Given the description of an element on the screen output the (x, y) to click on. 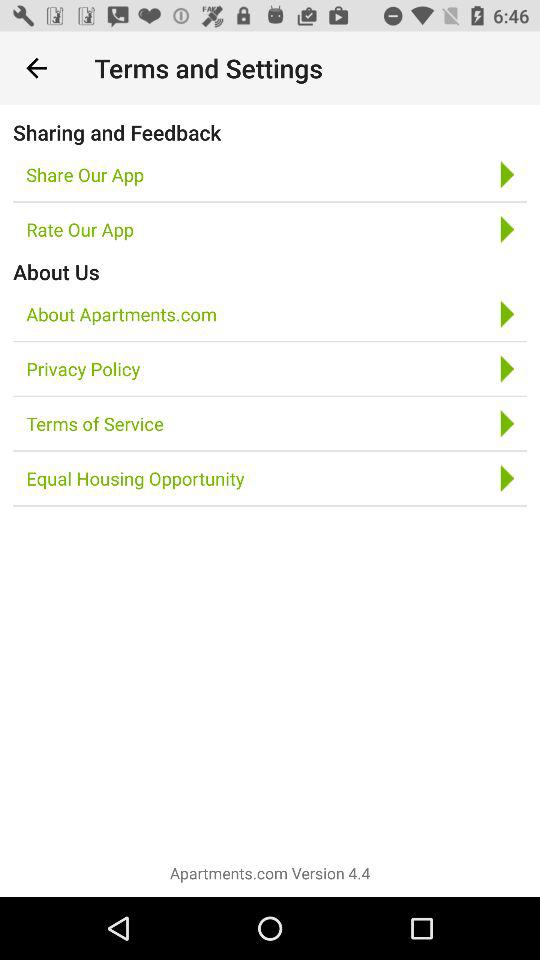
turn off icon next to terms and settings icon (36, 68)
